Given the description of an element on the screen output the (x, y) to click on. 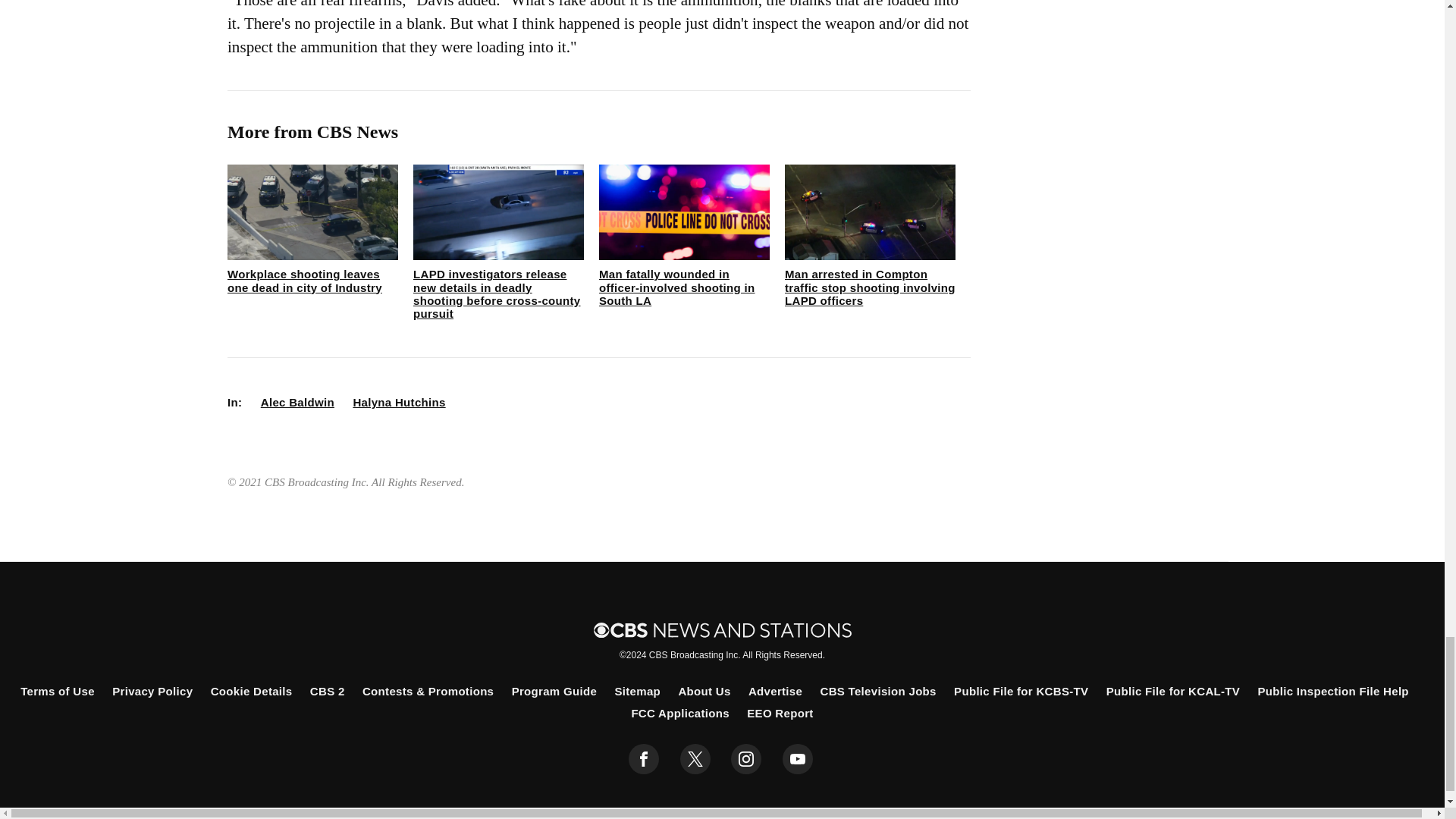
twitter (694, 758)
youtube (797, 758)
facebook (643, 758)
instagram (745, 758)
